Given the description of an element on the screen output the (x, y) to click on. 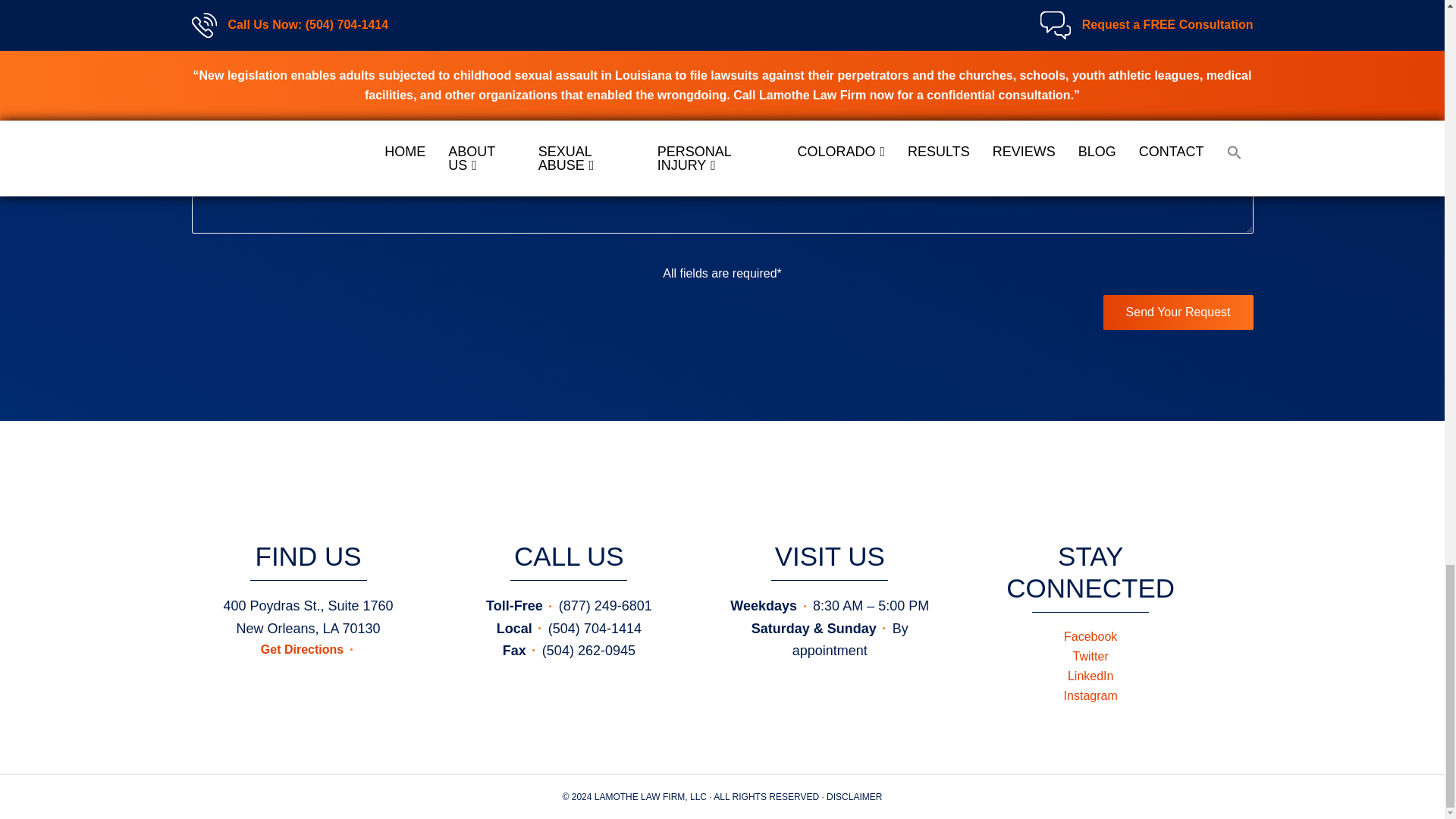
Send Your Request (1178, 312)
